Given the description of an element on the screen output the (x, y) to click on. 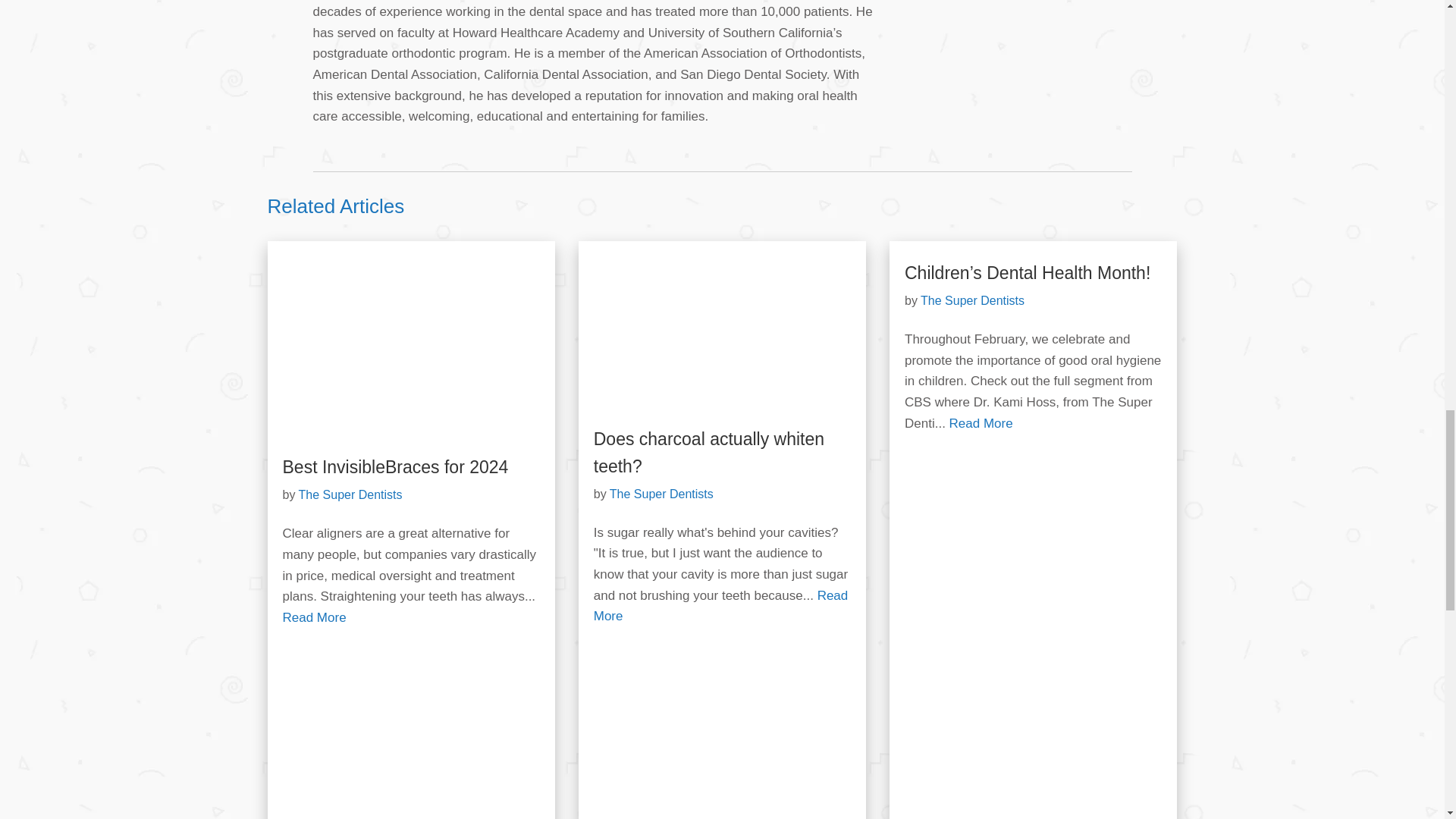
Permanent Link to Best InvisibleBraces for 2024 (395, 466)
Permanent Link to Does charcoal actually whiten teeth? (722, 335)
Permanent Link to Does charcoal actually whiten teeth? (709, 452)
Permanent Link to Best InvisibleBraces for 2024 (410, 348)
